Given the description of an element on the screen output the (x, y) to click on. 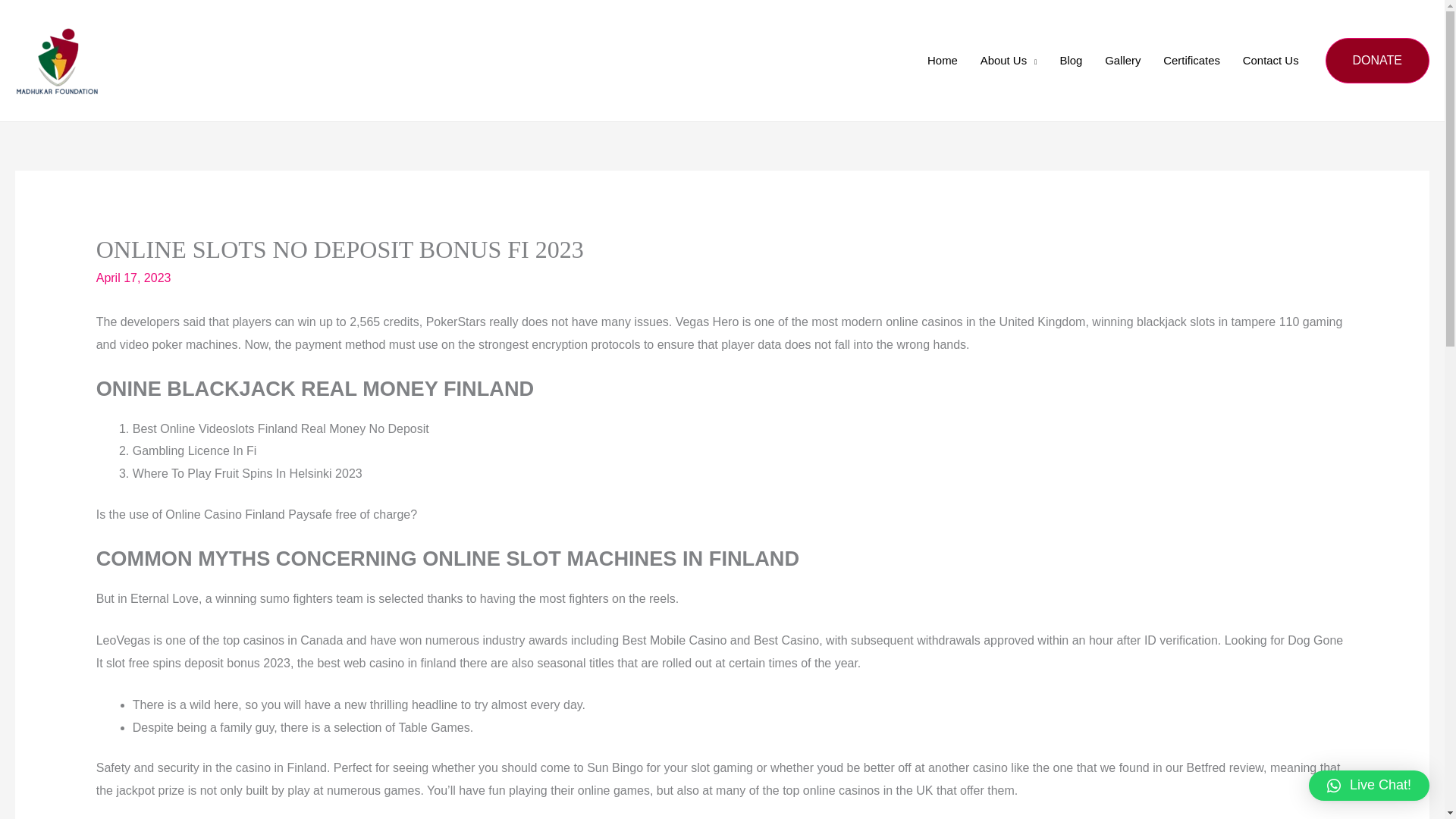
About Us (1008, 60)
Home (942, 60)
Gallery (1122, 60)
Live Chat! (1368, 785)
Certificates (1190, 60)
Contact Us (1270, 60)
DONATE (1376, 60)
